Given the description of an element on the screen output the (x, y) to click on. 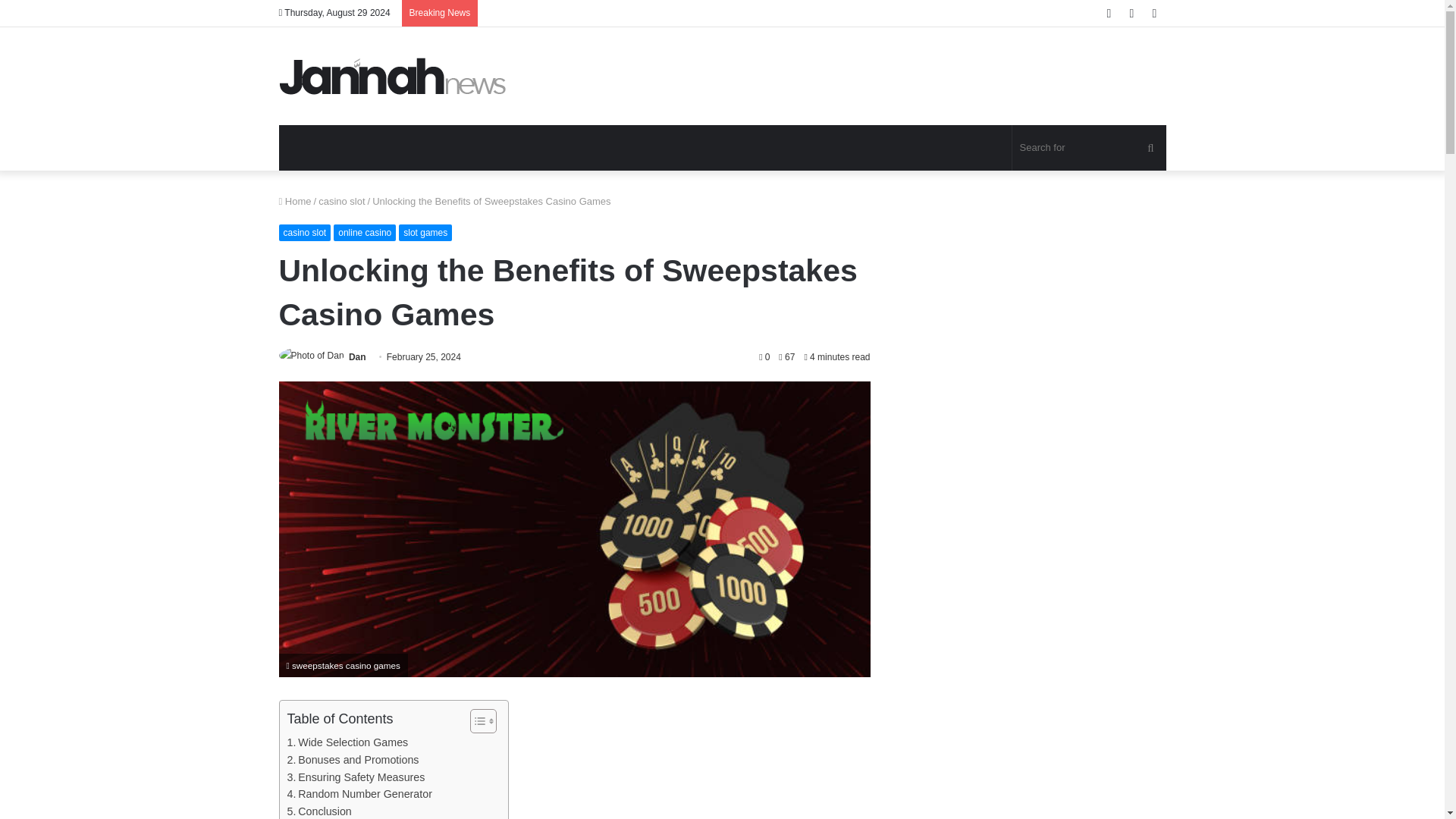
Conclusion (318, 811)
Wide Selection Games (346, 742)
online casino (364, 232)
Home (295, 201)
casino slot (305, 232)
Conclusion (318, 811)
Bonuses and Promotions (352, 760)
Wide Selection Games (346, 742)
Bonuses and Promotions (352, 760)
Ensuring Safety Measures (355, 777)
